Given the description of an element on the screen output the (x, y) to click on. 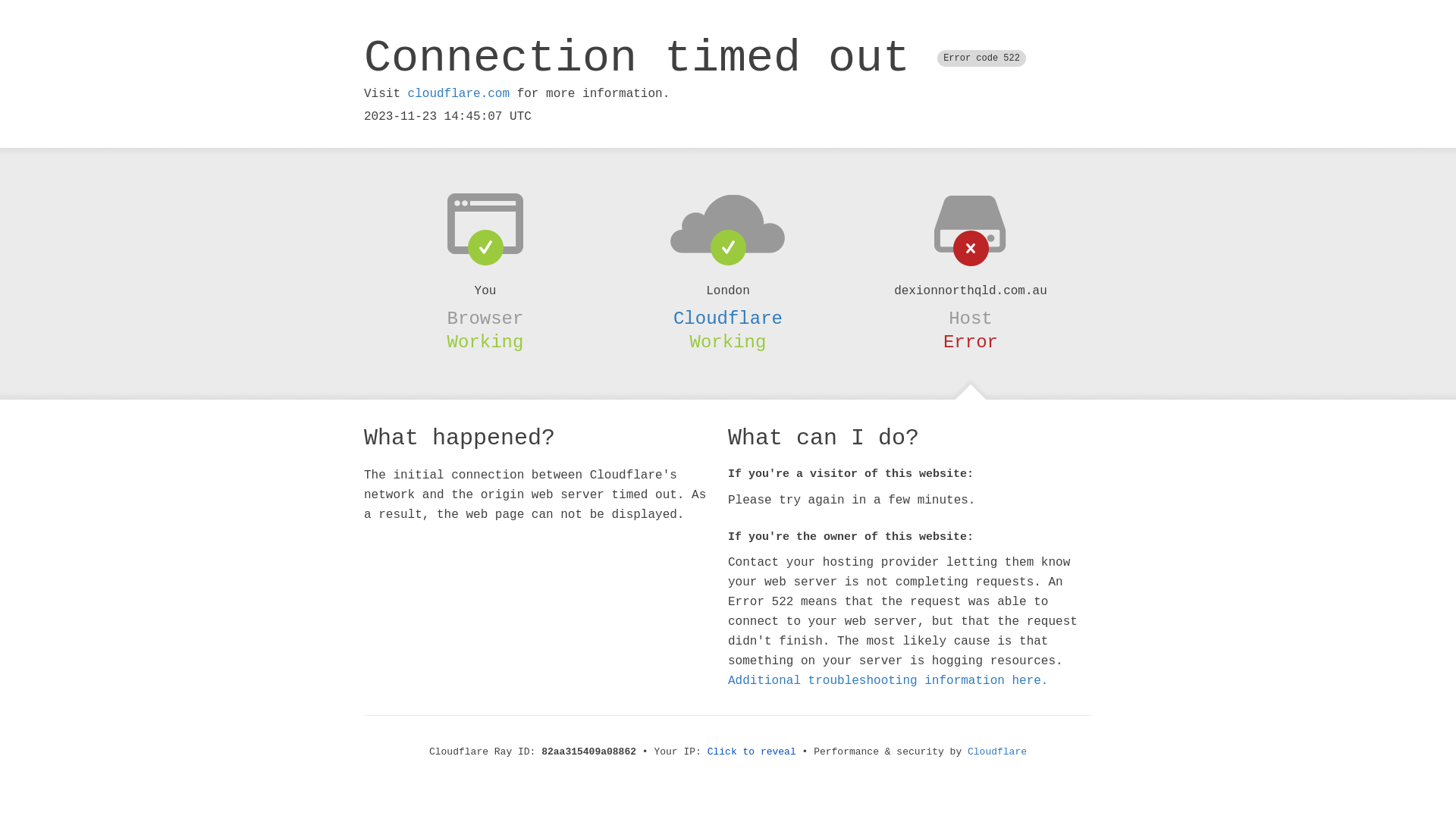
cloudflare.com Element type: text (458, 93)
Additional troubleshooting information here. Element type: text (888, 680)
Cloudflare Element type: text (727, 318)
Cloudflare Element type: text (996, 751)
Click to reveal Element type: text (751, 751)
